Given the description of an element on the screen output the (x, y) to click on. 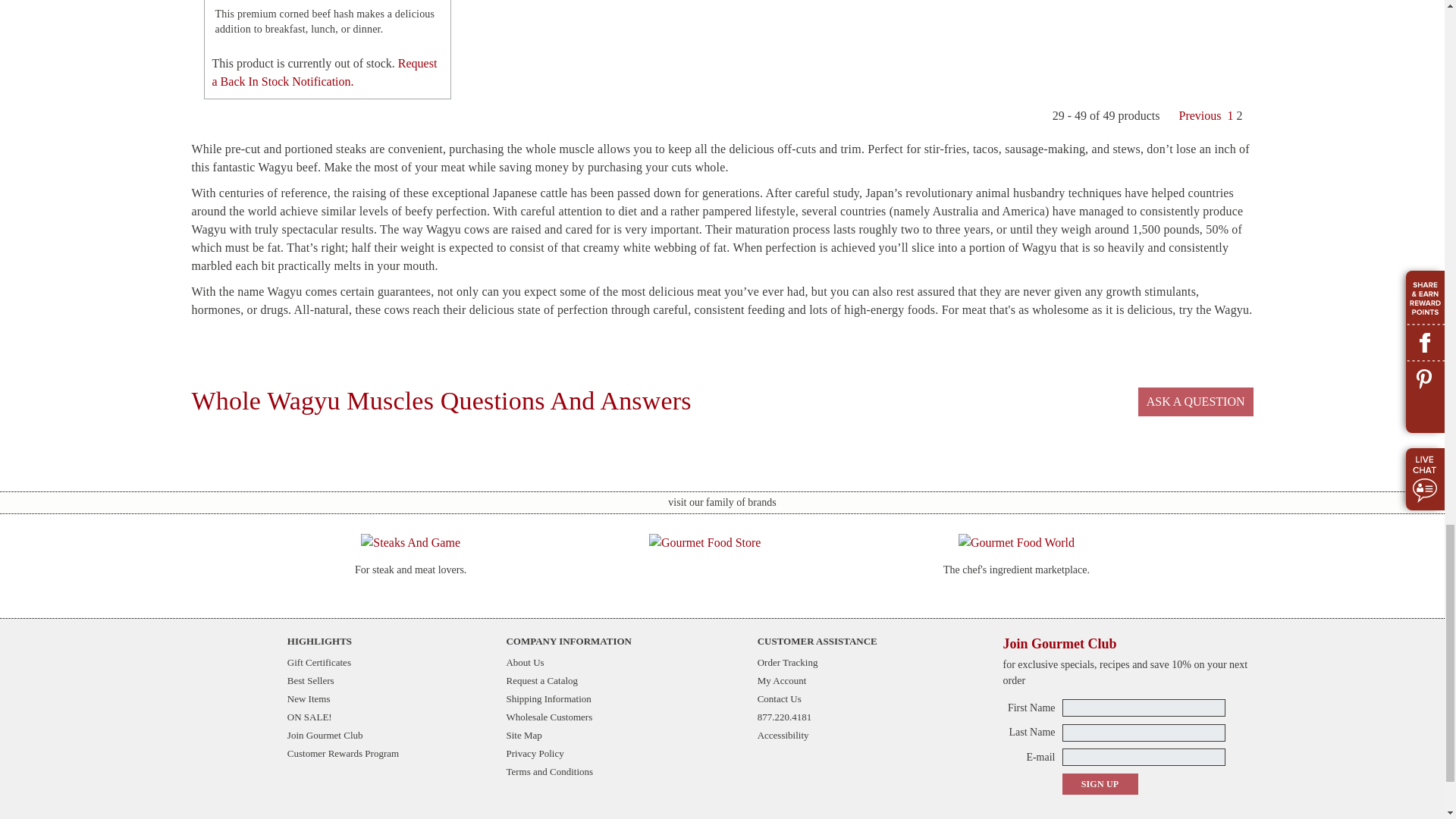
Sign Up (1099, 783)
